Given the description of an element on the screen output the (x, y) to click on. 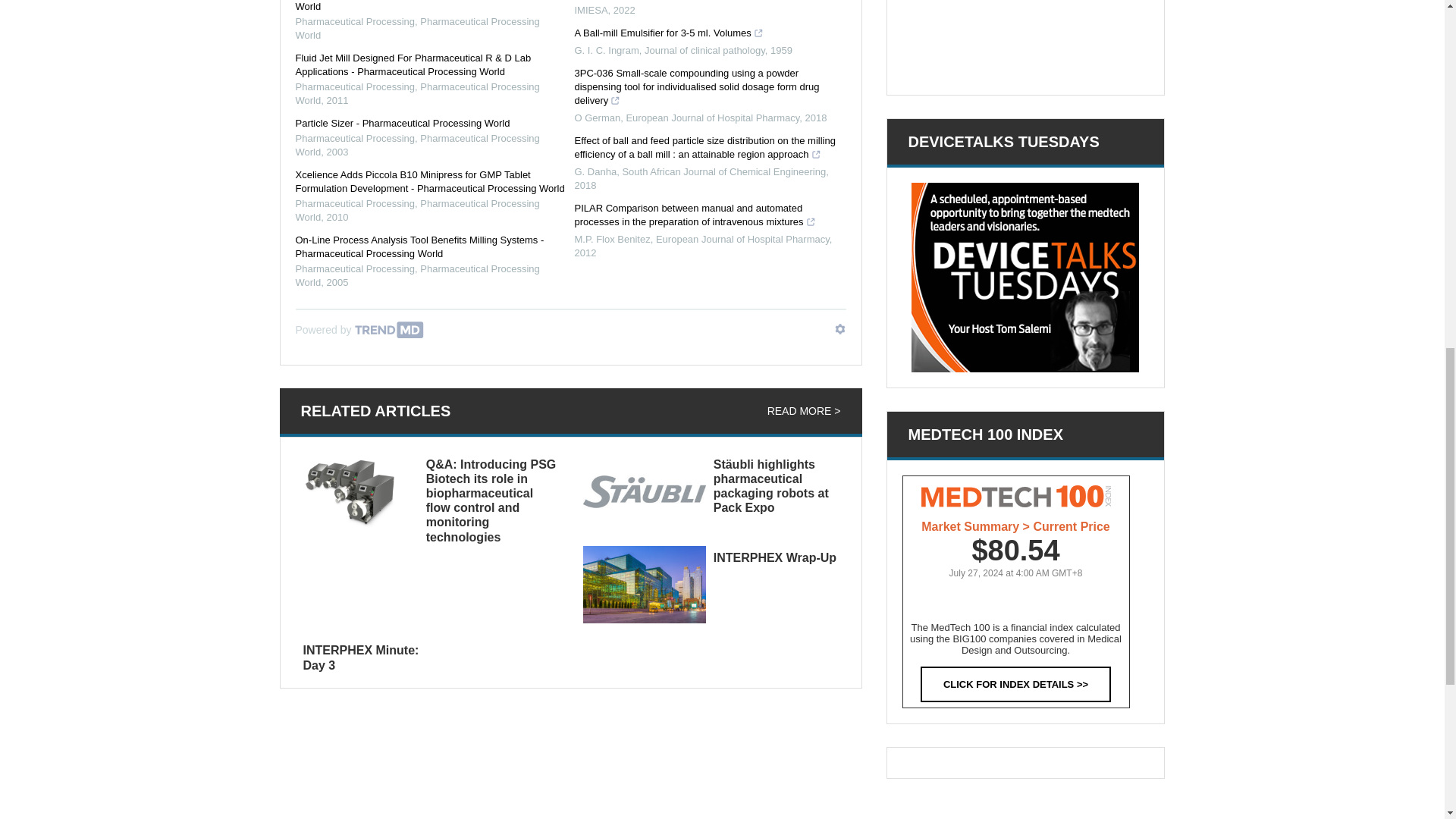
Particle Sizer - Pharmaceutical Processing World (403, 122)
INTERPHEX Minute: Day 3 (360, 656)
Powered by (359, 329)
A Ball-mill Emulsifier for 3-5 ml. Volumes (668, 32)
INTERPHEX Wrap-Up (774, 557)
3rd party ad content (1024, 39)
